Given the description of an element on the screen output the (x, y) to click on. 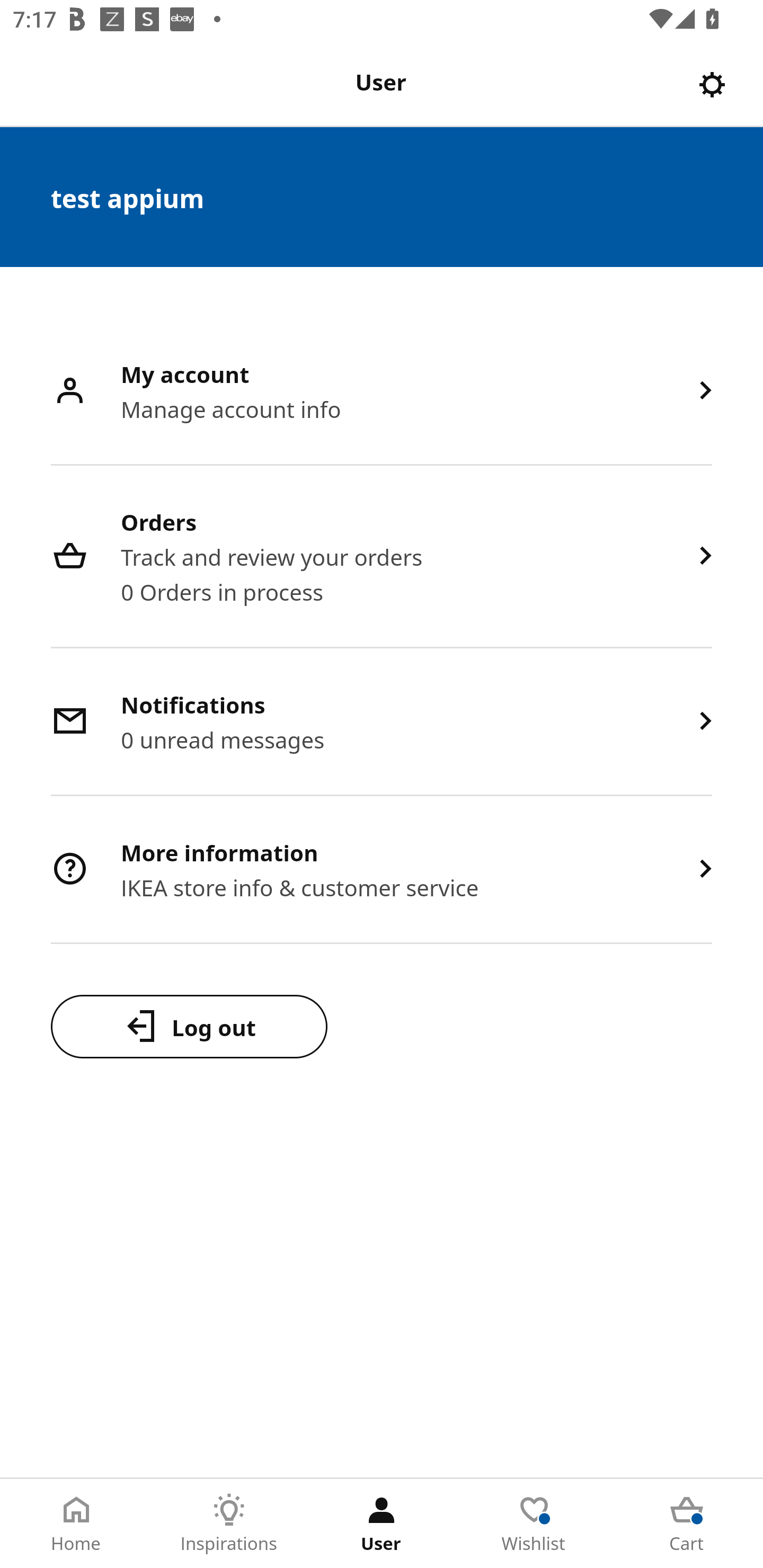
My account
Manage account info (381, 391)
Notifications
0 unread messages (381, 722)
Log out (189, 1026)
Home
Tab 1 of 5 (76, 1522)
Inspirations
Tab 2 of 5 (228, 1522)
User
Tab 3 of 5 (381, 1522)
Wishlist
Tab 4 of 5 (533, 1522)
Cart
Tab 5 of 5 (686, 1522)
